Given the description of an element on the screen output the (x, y) to click on. 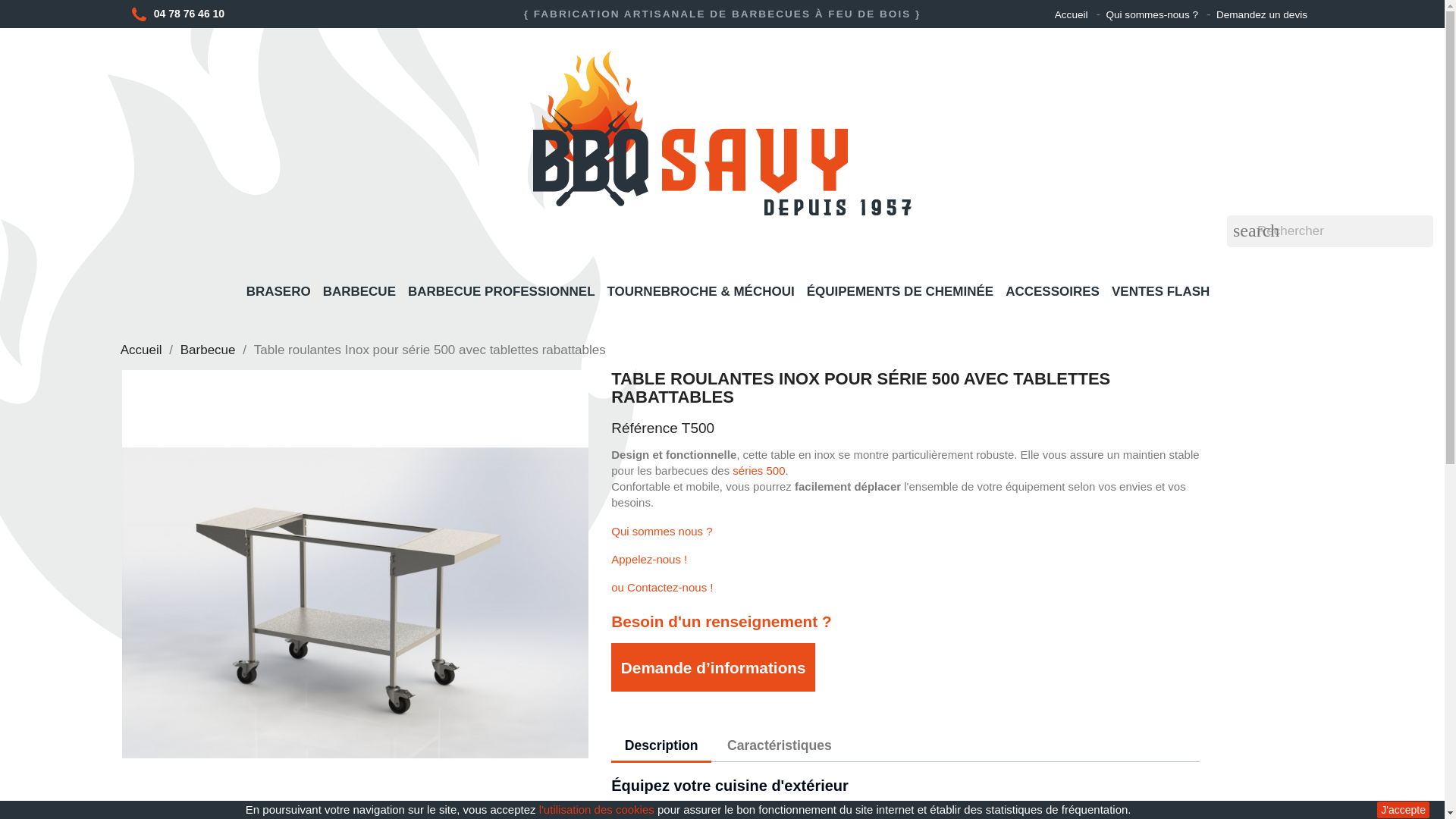
Accueil (1072, 14)
BARBECUE (359, 294)
BRASERO (278, 294)
BARBECUE PROFESSIONNEL (501, 294)
ACCESSOIRES (1051, 294)
VENTES FLASH (1160, 294)
Qui sommes-nous ? (1153, 14)
Qui sommes nous ? (661, 530)
Barbecue (207, 350)
